Given the description of an element on the screen output the (x, y) to click on. 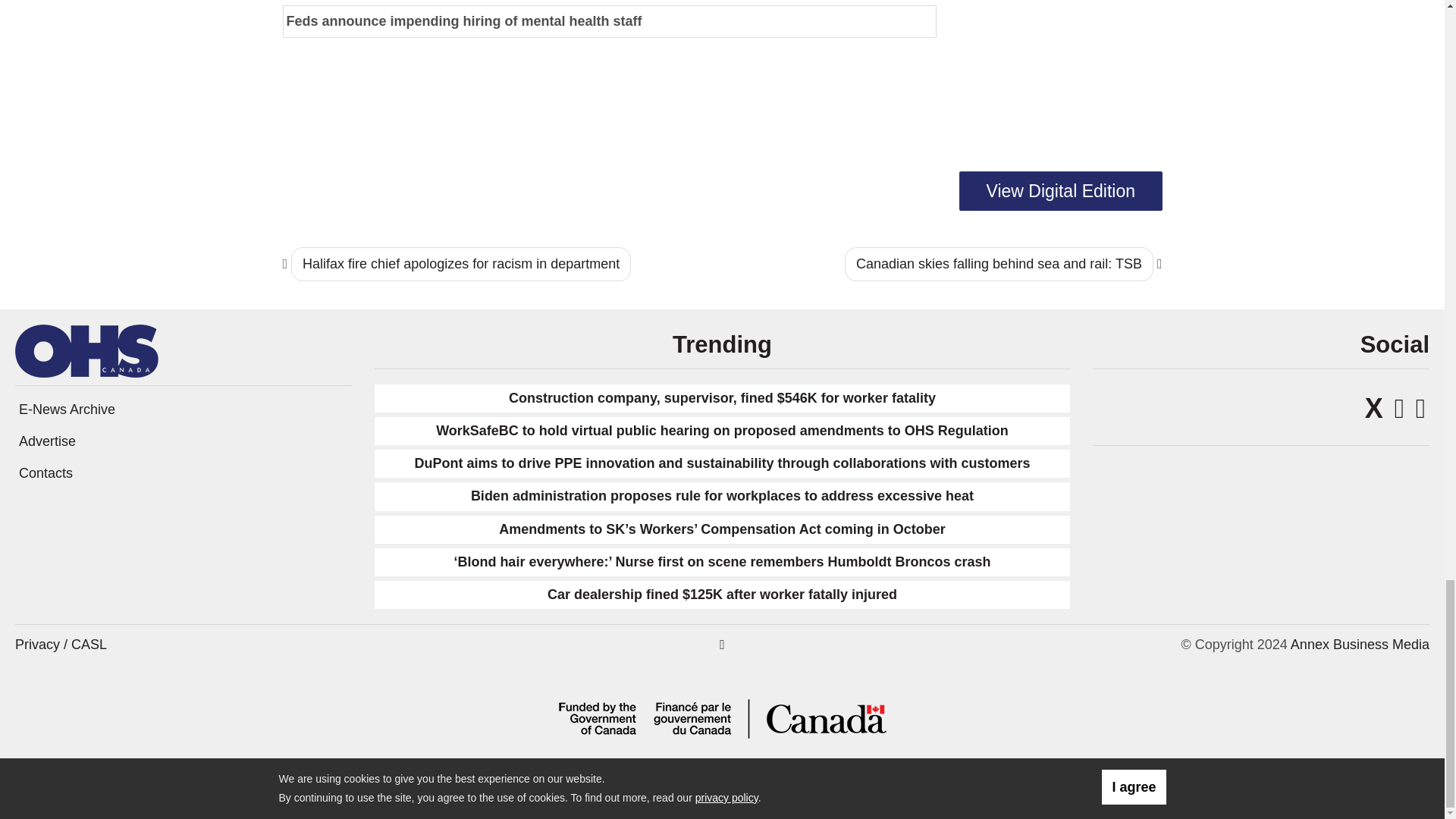
Annex Business Media (1359, 644)
OHS Canada Magazine (86, 349)
